Given the description of an element on the screen output the (x, y) to click on. 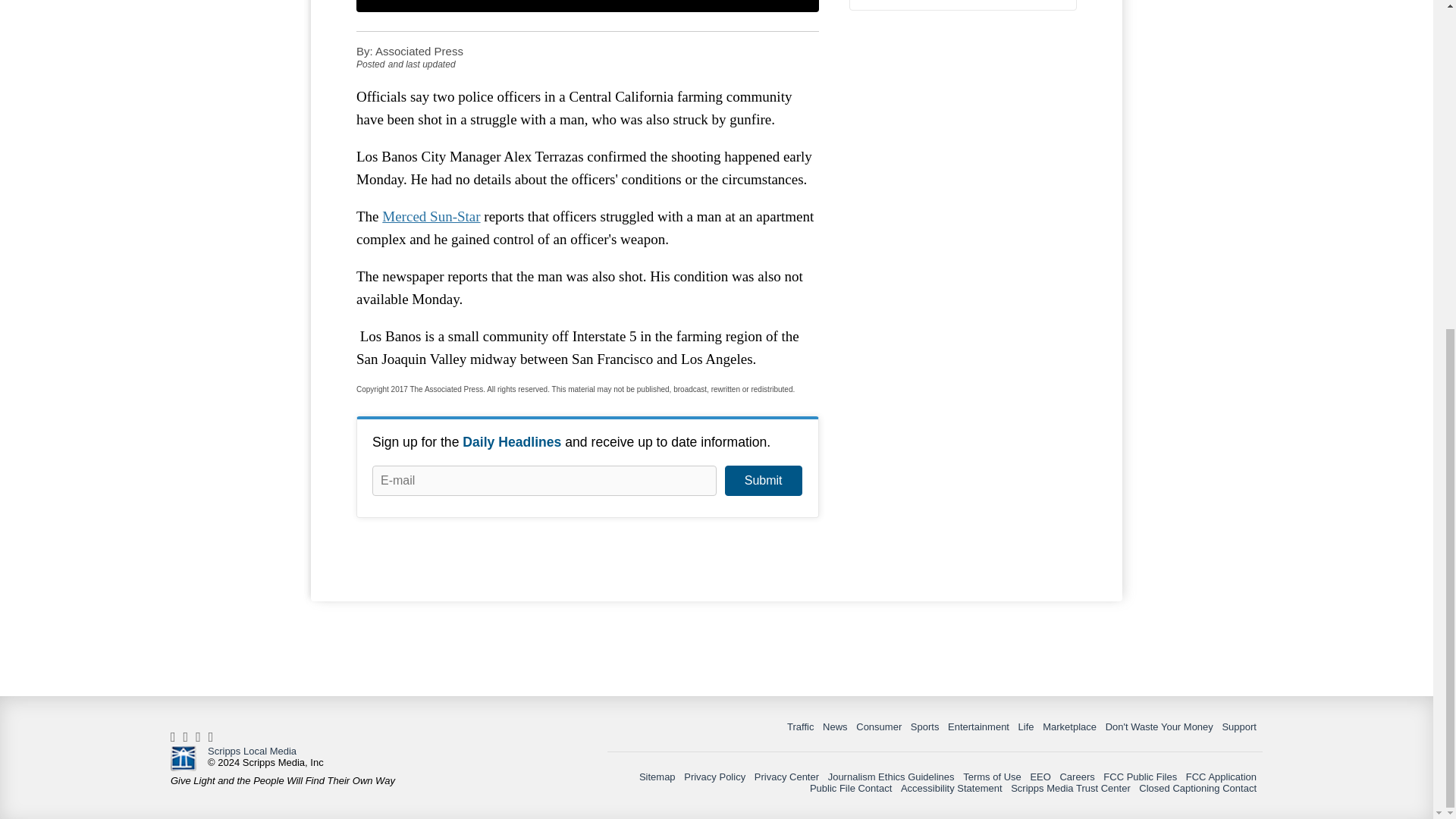
Submit (763, 481)
